Given the description of an element on the screen output the (x, y) to click on. 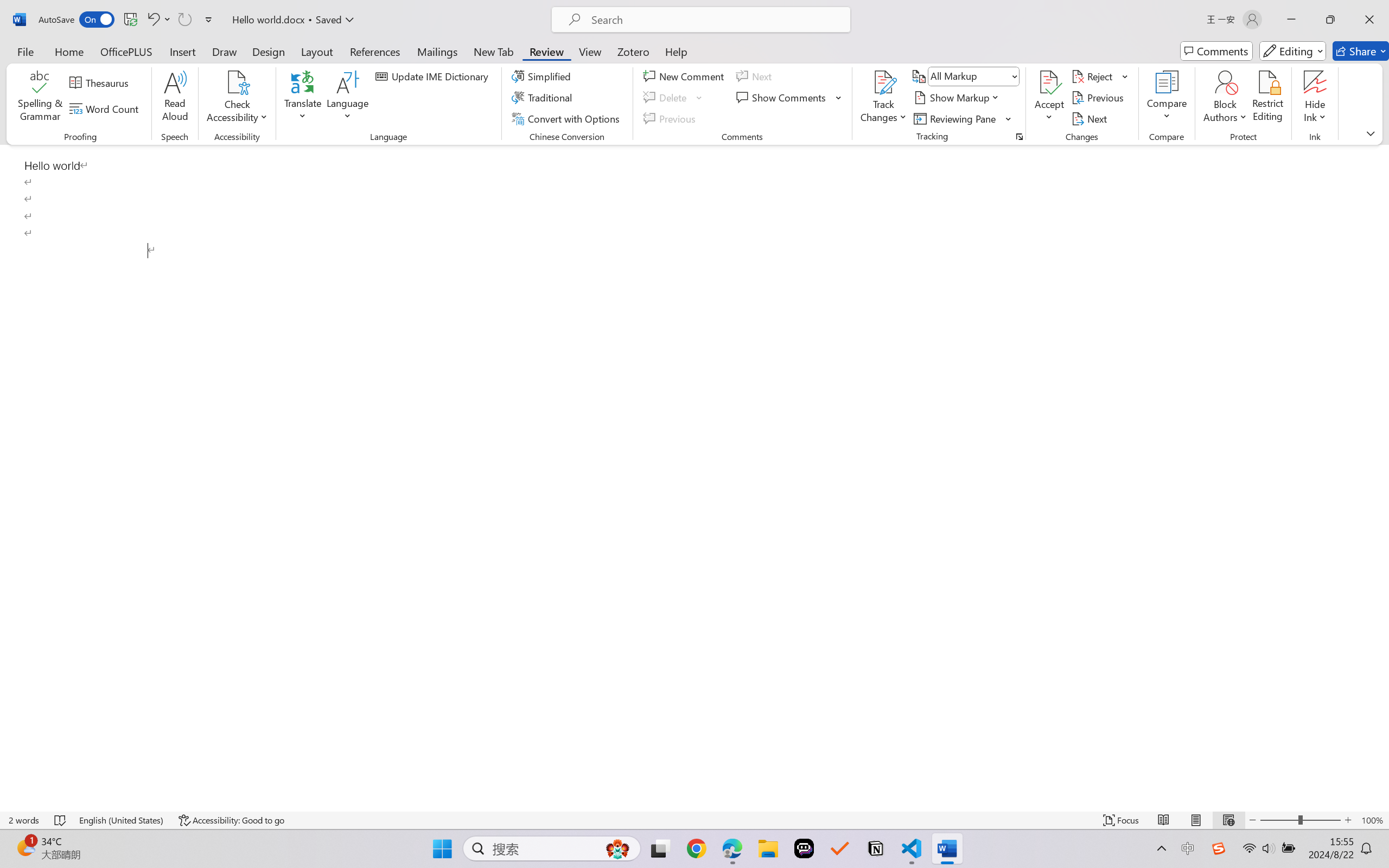
Save as Show (292, 62)
Microsoft search (708, 10)
From Beginning... (85, 62)
Learn More (351, 62)
